Given the description of an element on the screen output the (x, y) to click on. 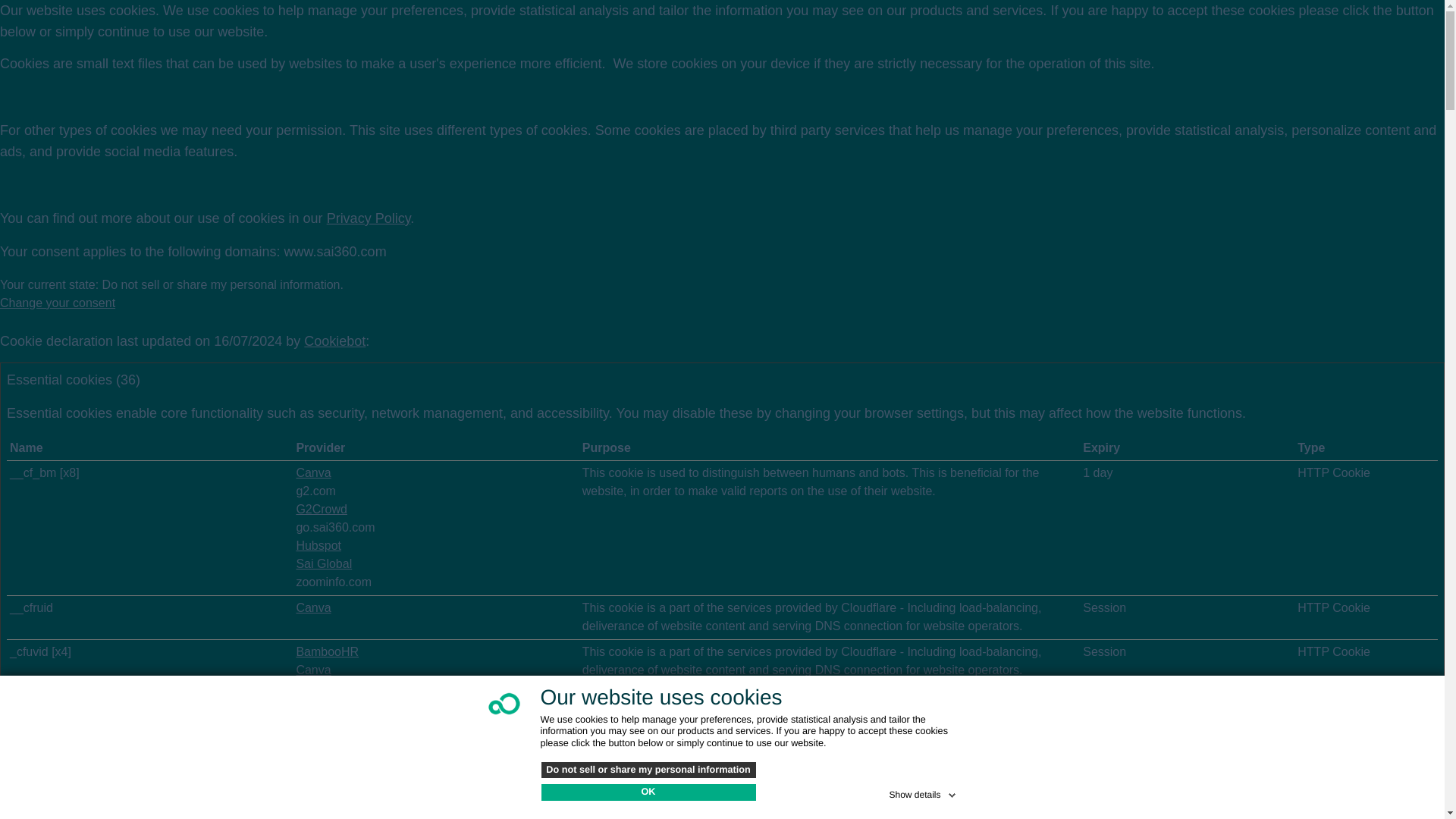
G2Crowd (321, 508)
BambooHR's privacy policy (326, 651)
Hubspot's privacy policy (317, 545)
Canva's privacy policy (312, 607)
Cookiebot (334, 340)
Privacy Policy (368, 218)
Change your consent (57, 302)
Hubspot (317, 545)
Canva (312, 607)
Cookiebot (334, 340)
Sai Global (323, 563)
SurveyMonkey's privacy policy (335, 801)
Hubspot's privacy policy (317, 687)
Sai Global's privacy policy (323, 563)
Canva (312, 757)
